Given the description of an element on the screen output the (x, y) to click on. 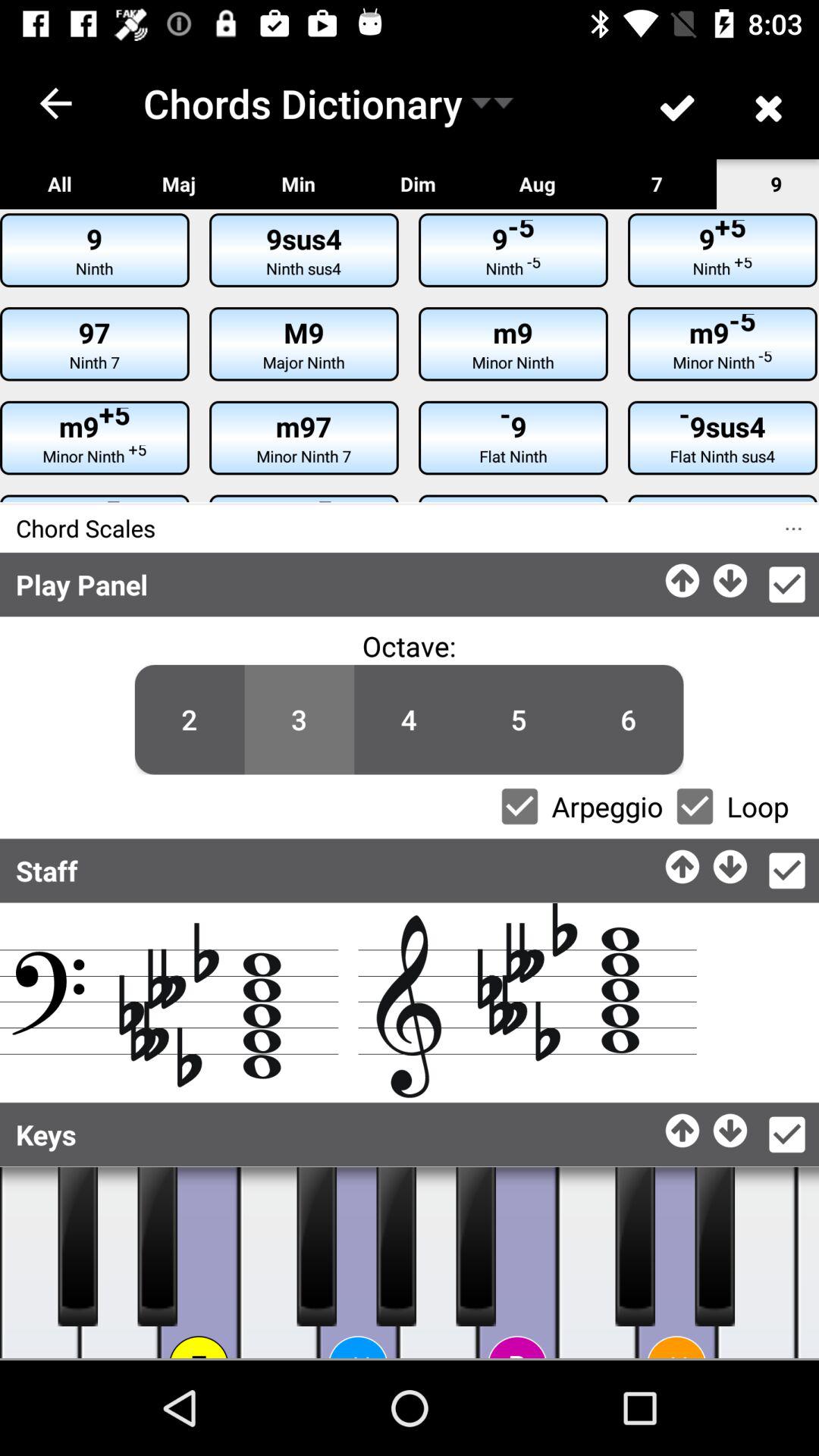
next (731, 576)
